Given the description of an element on the screen output the (x, y) to click on. 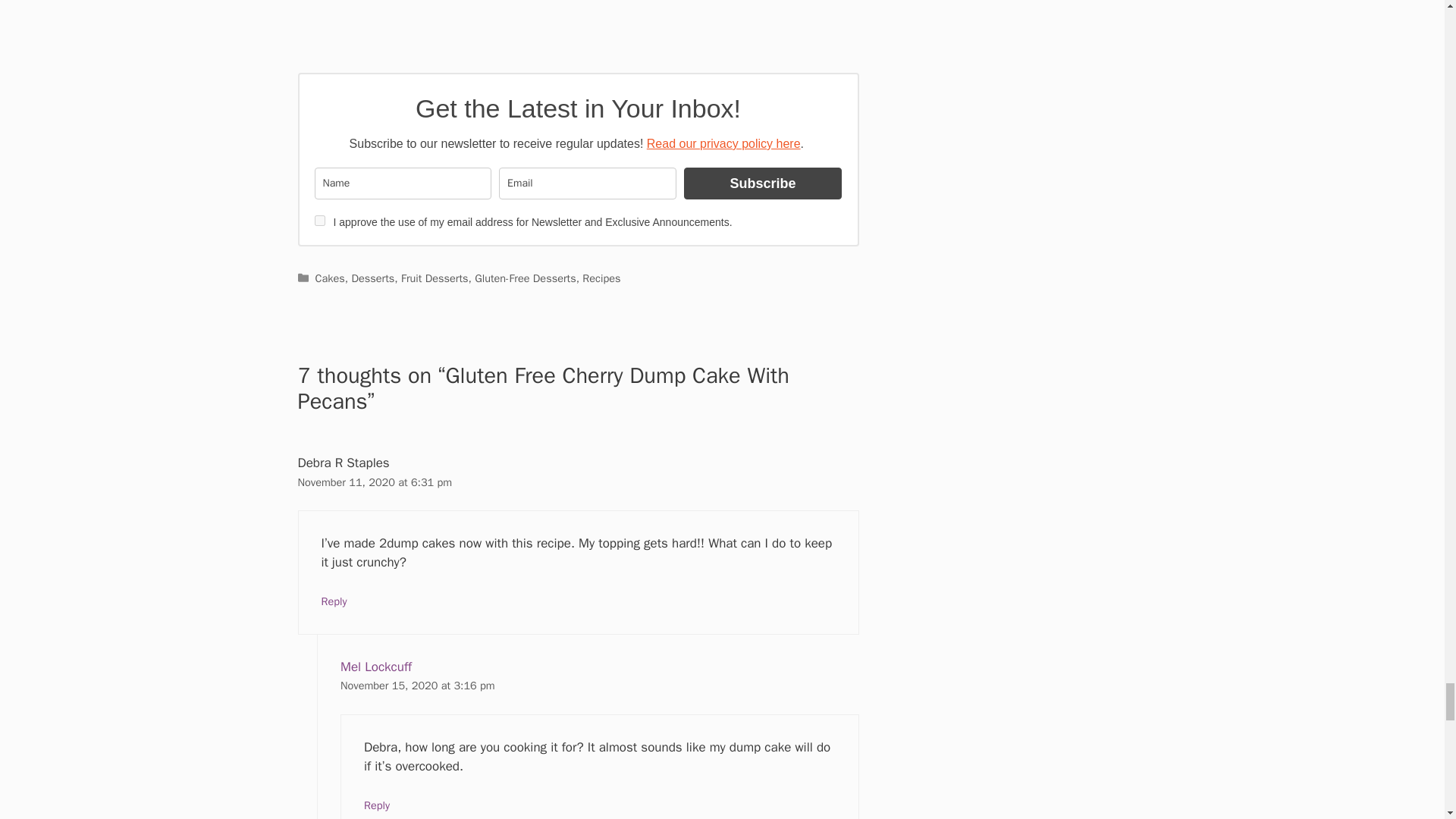
on (319, 220)
